Given the description of an element on the screen output the (x, y) to click on. 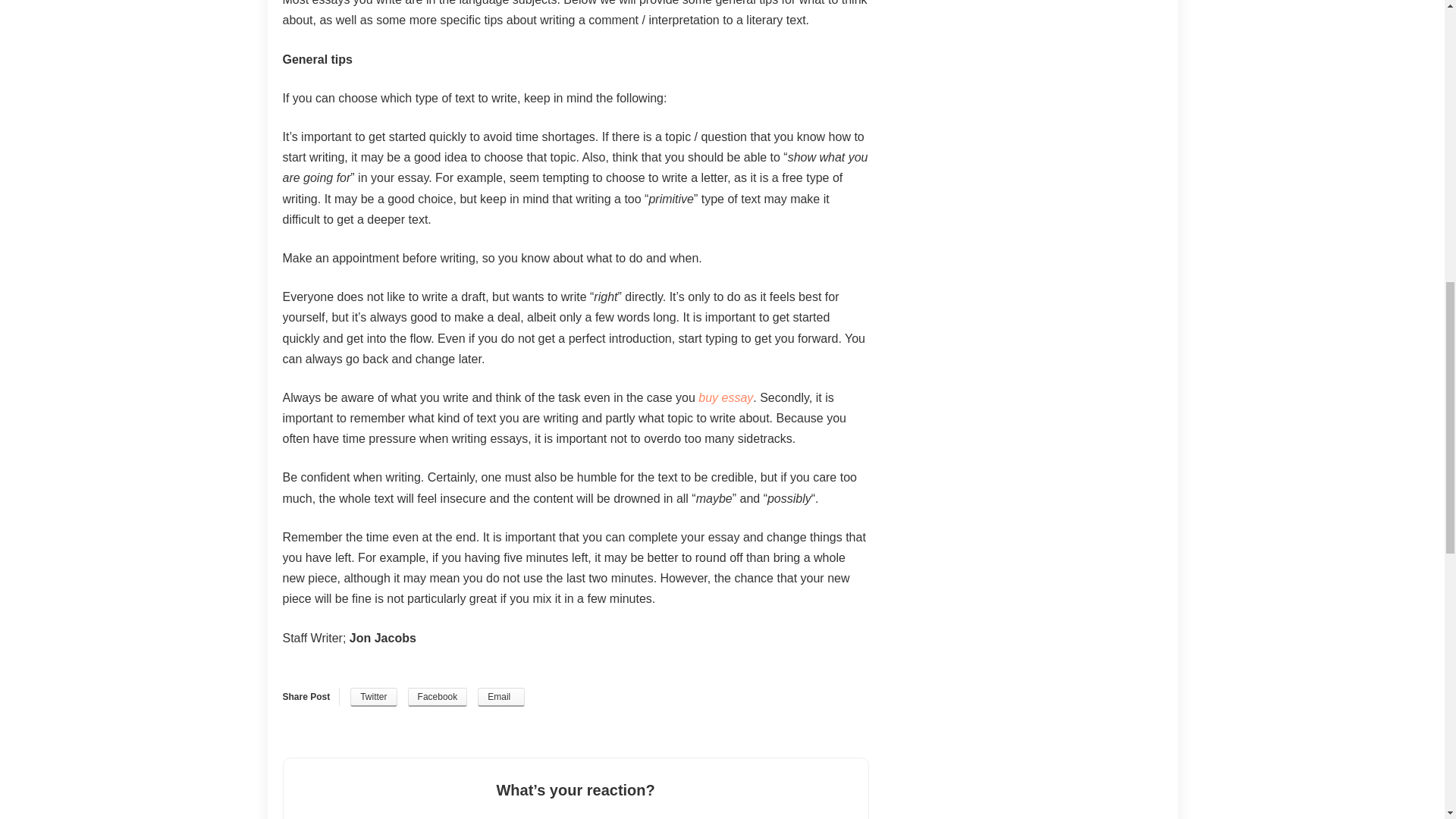
Share by email to a friend (500, 696)
Share on Facebook (437, 696)
Share on Twitter (373, 696)
